Given the description of an element on the screen output the (x, y) to click on. 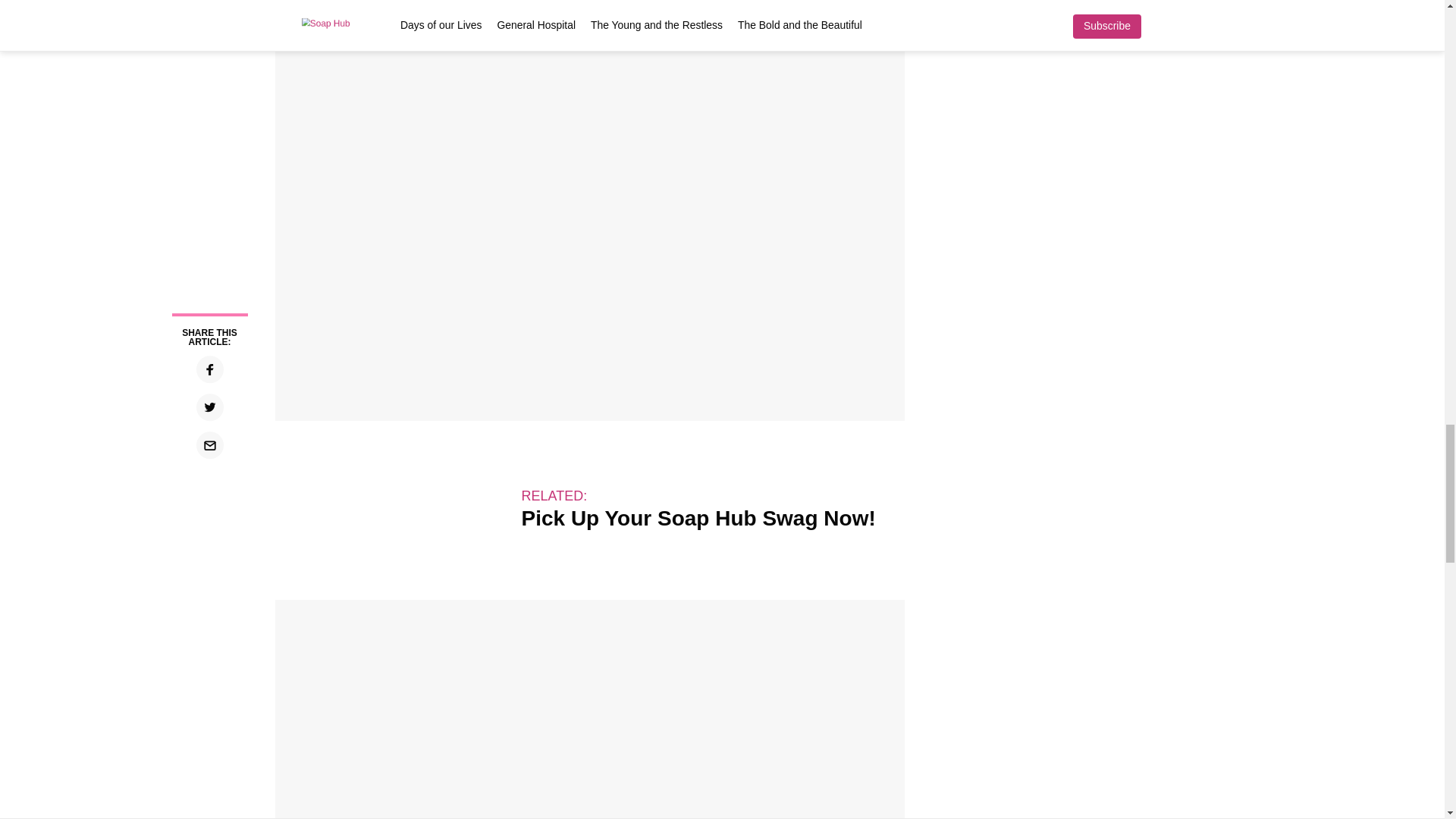
Pick Up Your Soap Hub Swag Now! (698, 526)
RELATED: (554, 495)
